Given the description of an element on the screen output the (x, y) to click on. 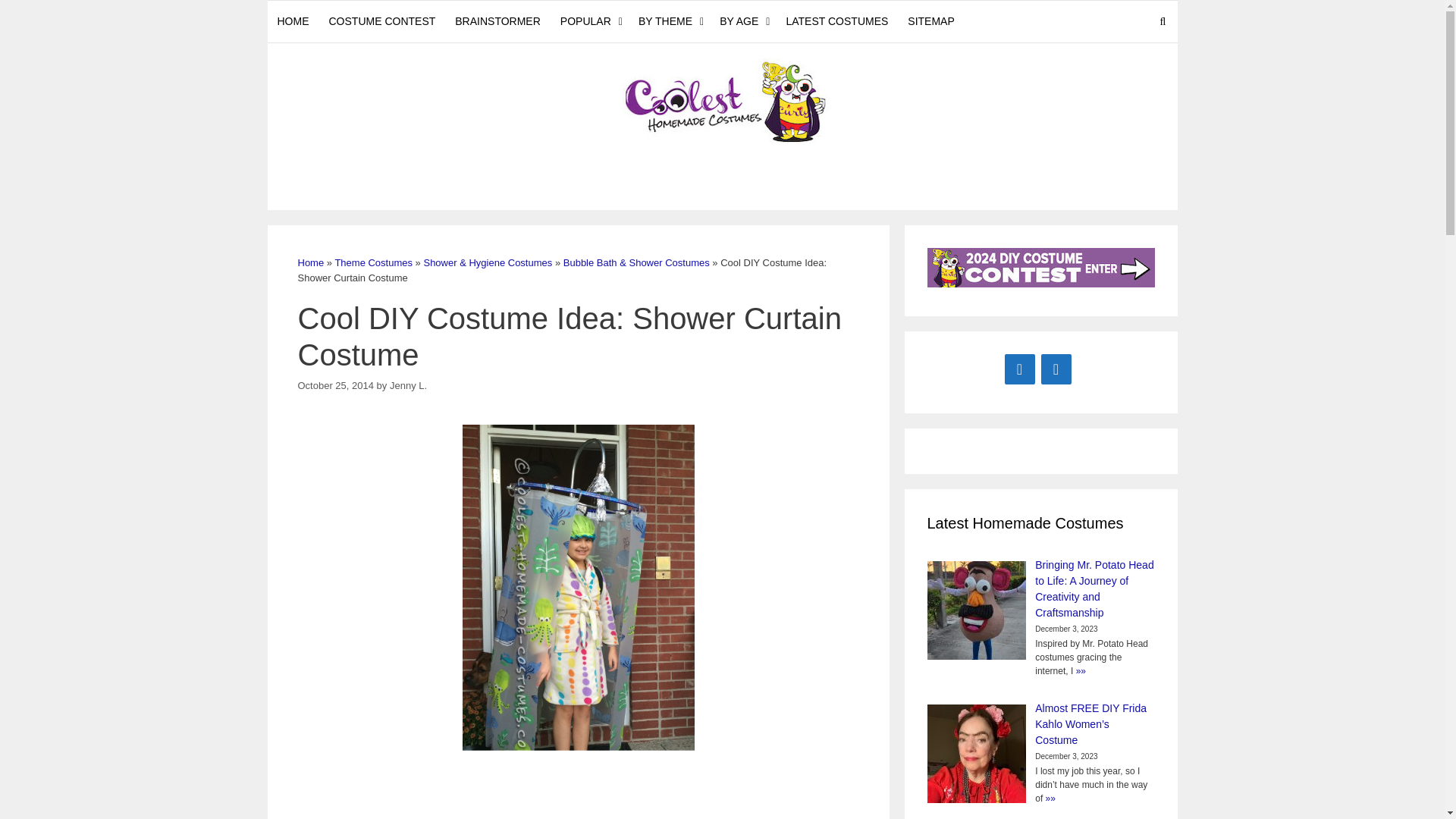
Facebook (1018, 368)
HOME (292, 21)
BY THEME (669, 21)
View all posts by Jenny L. (408, 384)
POPULAR (589, 21)
BY AGE (743, 21)
LATEST COSTUMES (837, 21)
Instagram (1055, 368)
COSTUME CONTEST (381, 21)
BRAINSTORMER (497, 21)
